Given the description of an element on the screen output the (x, y) to click on. 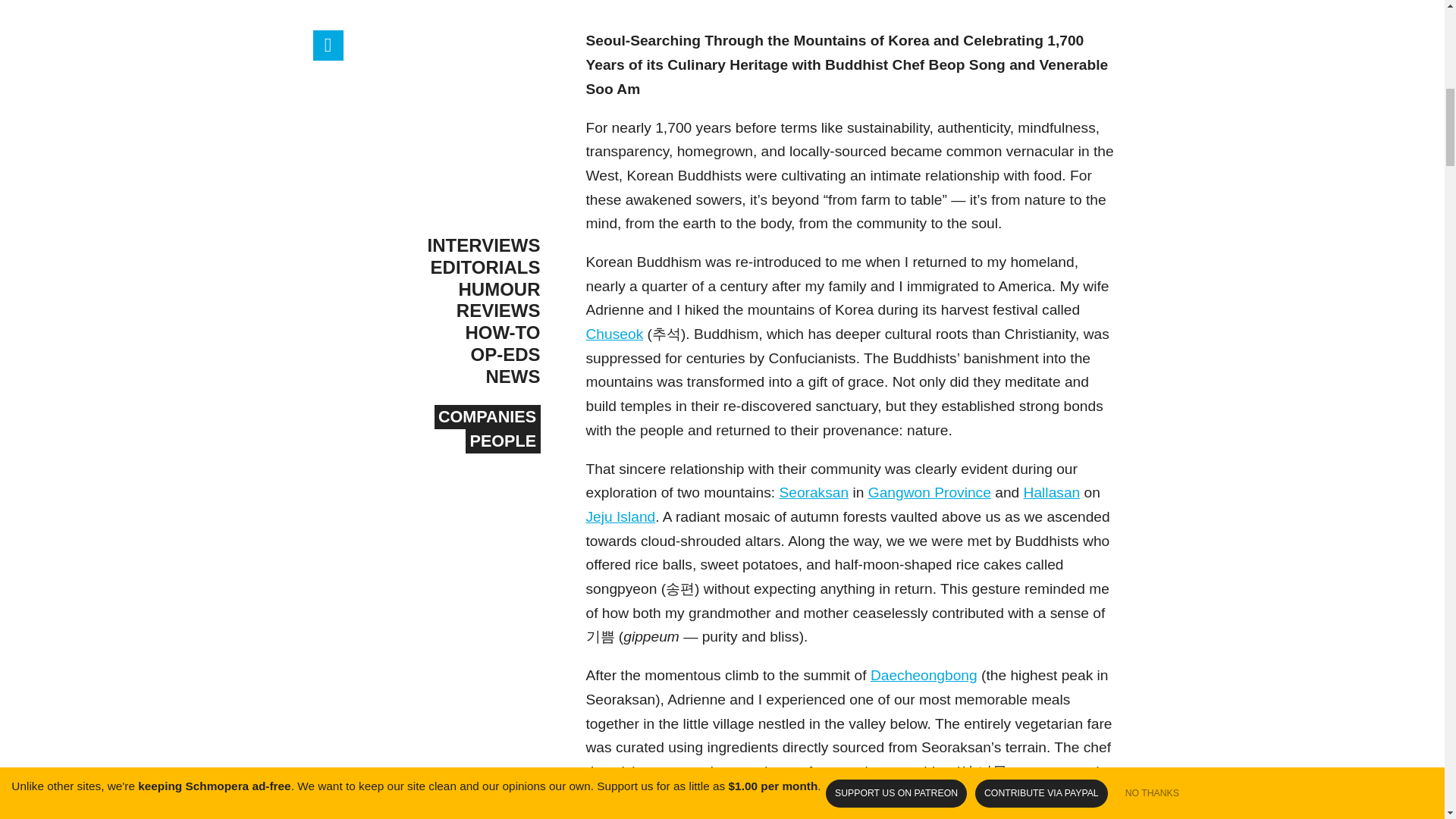
Seoraksan (813, 492)
Chuseok (614, 333)
Daecheongbong (923, 675)
Gangwon Province (929, 492)
Hallasan (1051, 492)
Jeju Island (620, 516)
